Given the description of an element on the screen output the (x, y) to click on. 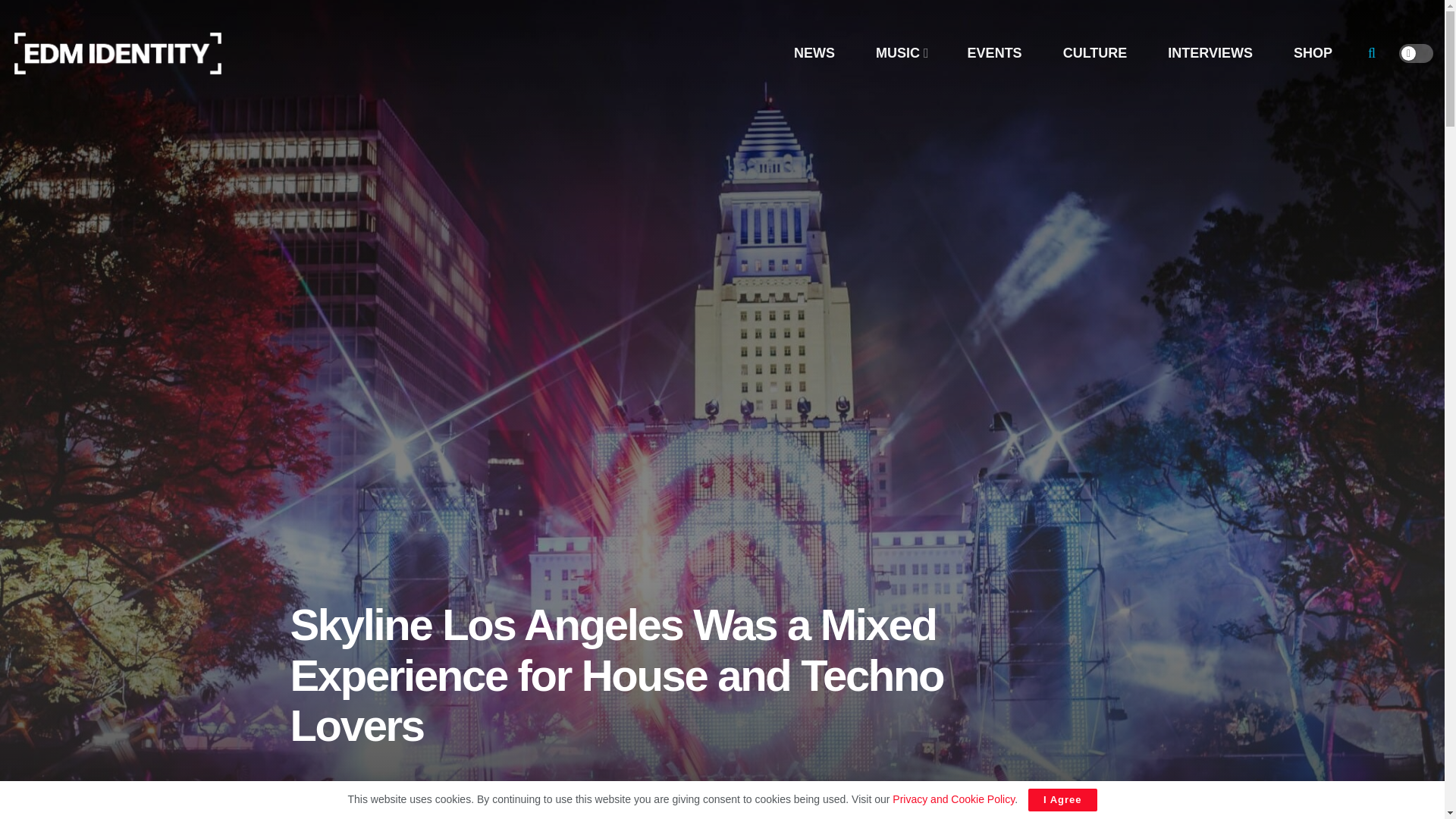
EVENTS (994, 53)
MUSIC (901, 53)
NEWS (814, 53)
INTERVIEWS (1210, 53)
SHOP (1312, 53)
Event Reviews (612, 816)
CULTURE (1095, 53)
March 3, 2024 (528, 816)
Hannah Roberts (430, 816)
